Given the description of an element on the screen output the (x, y) to click on. 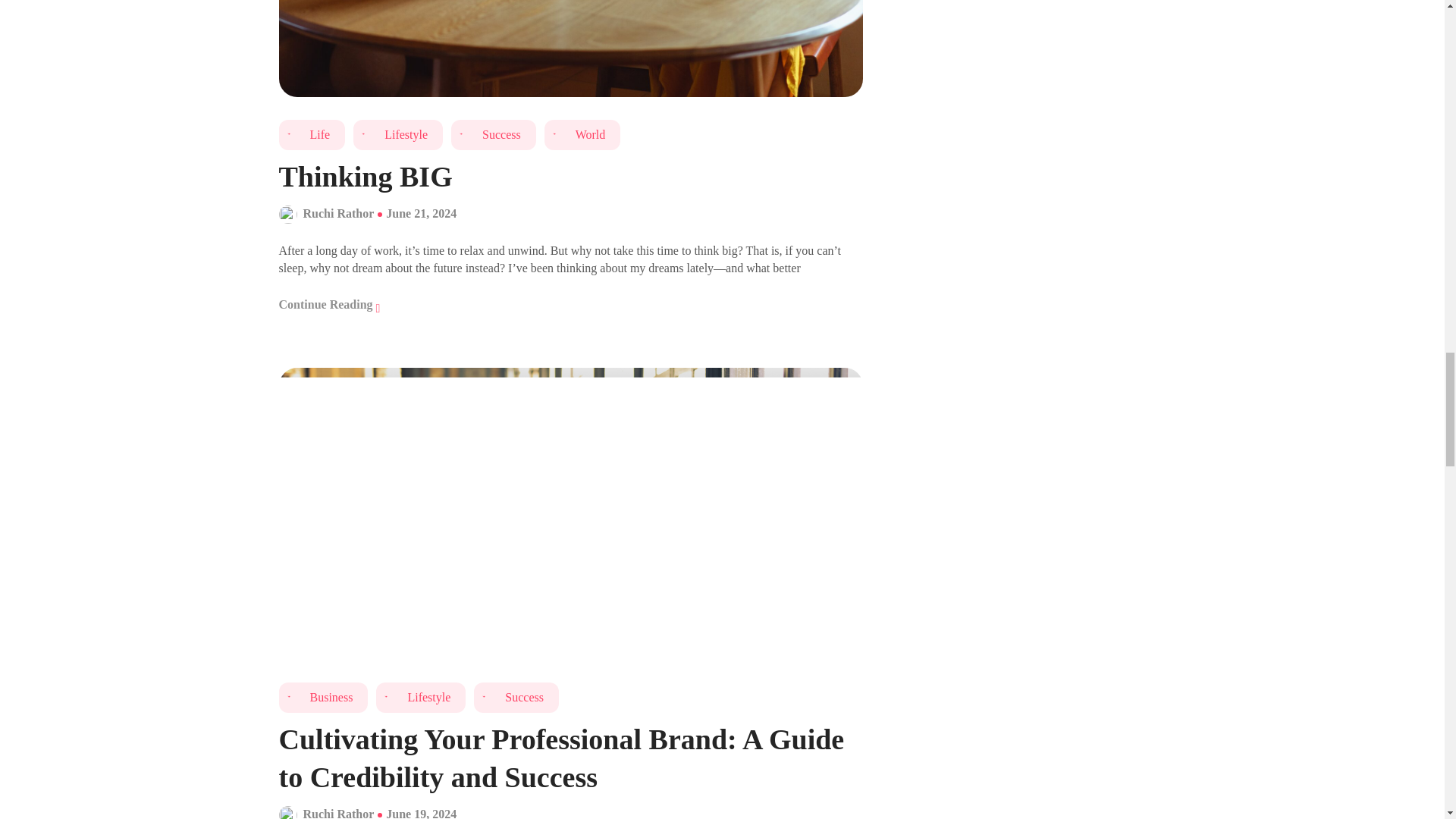
Life (312, 134)
Ruchi Rathor (338, 813)
Continue Reading (329, 305)
Thinking BIG (571, 176)
Ruchi Rathor (338, 214)
Success (493, 134)
Lifestyle (420, 697)
World (582, 134)
Business (323, 697)
Success (516, 697)
Lifestyle (397, 134)
